Given the description of an element on the screen output the (x, y) to click on. 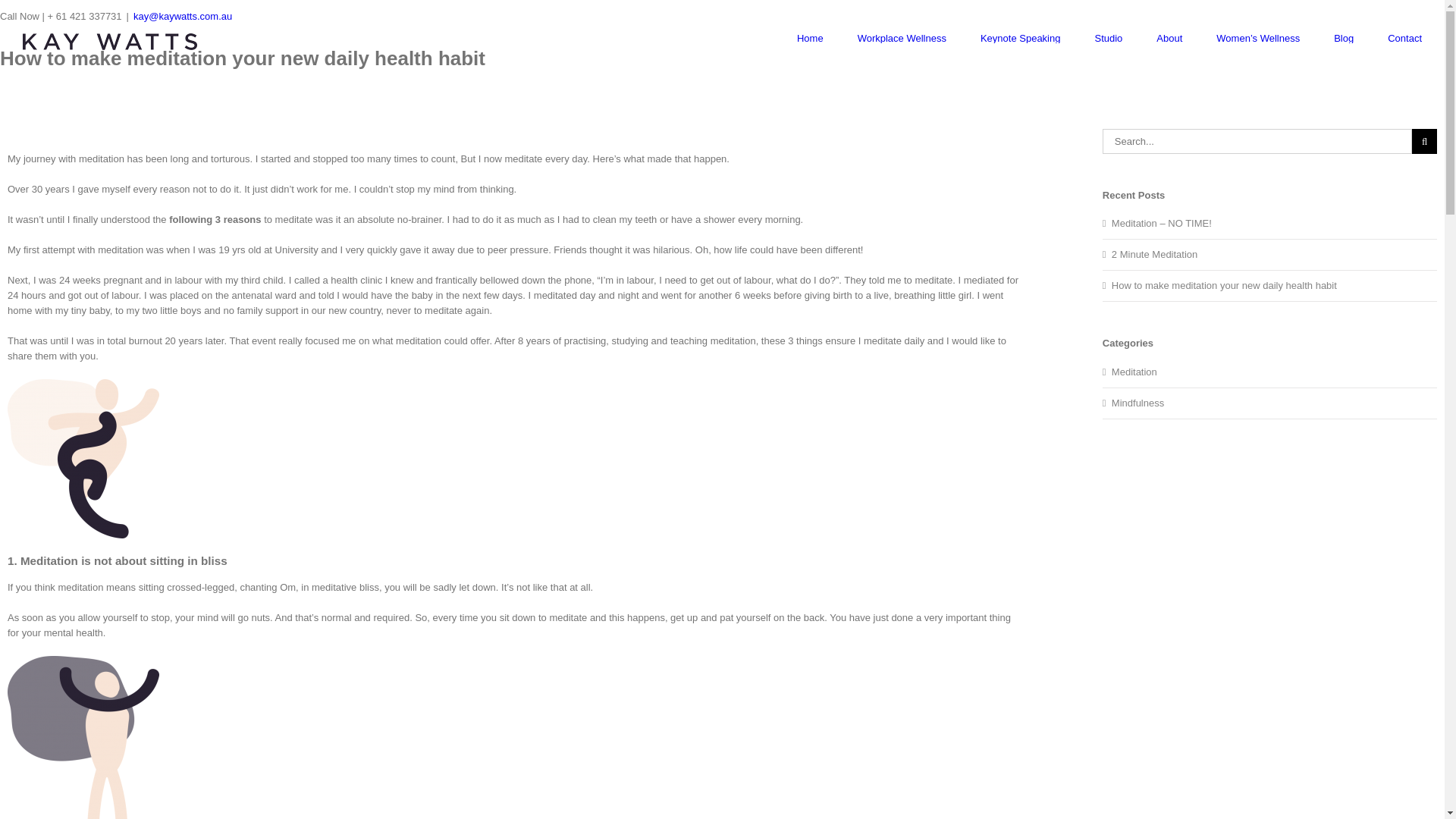
Blog Element type: text (1343, 38)
Keynote Speaking Element type: text (1020, 38)
Mindfulness Element type: text (1270, 403)
2 Minute Meditation Element type: text (1154, 254)
About Element type: text (1169, 38)
Studio Element type: text (1108, 38)
How to make meditation your new daily health habit Element type: text (1223, 285)
Meditation Element type: text (1270, 371)
Workplace Wellness Element type: text (901, 38)
kay@kaywatts.com.au Element type: text (182, 15)
Home Element type: text (810, 38)
Contact Element type: text (1404, 38)
